Given the description of an element on the screen output the (x, y) to click on. 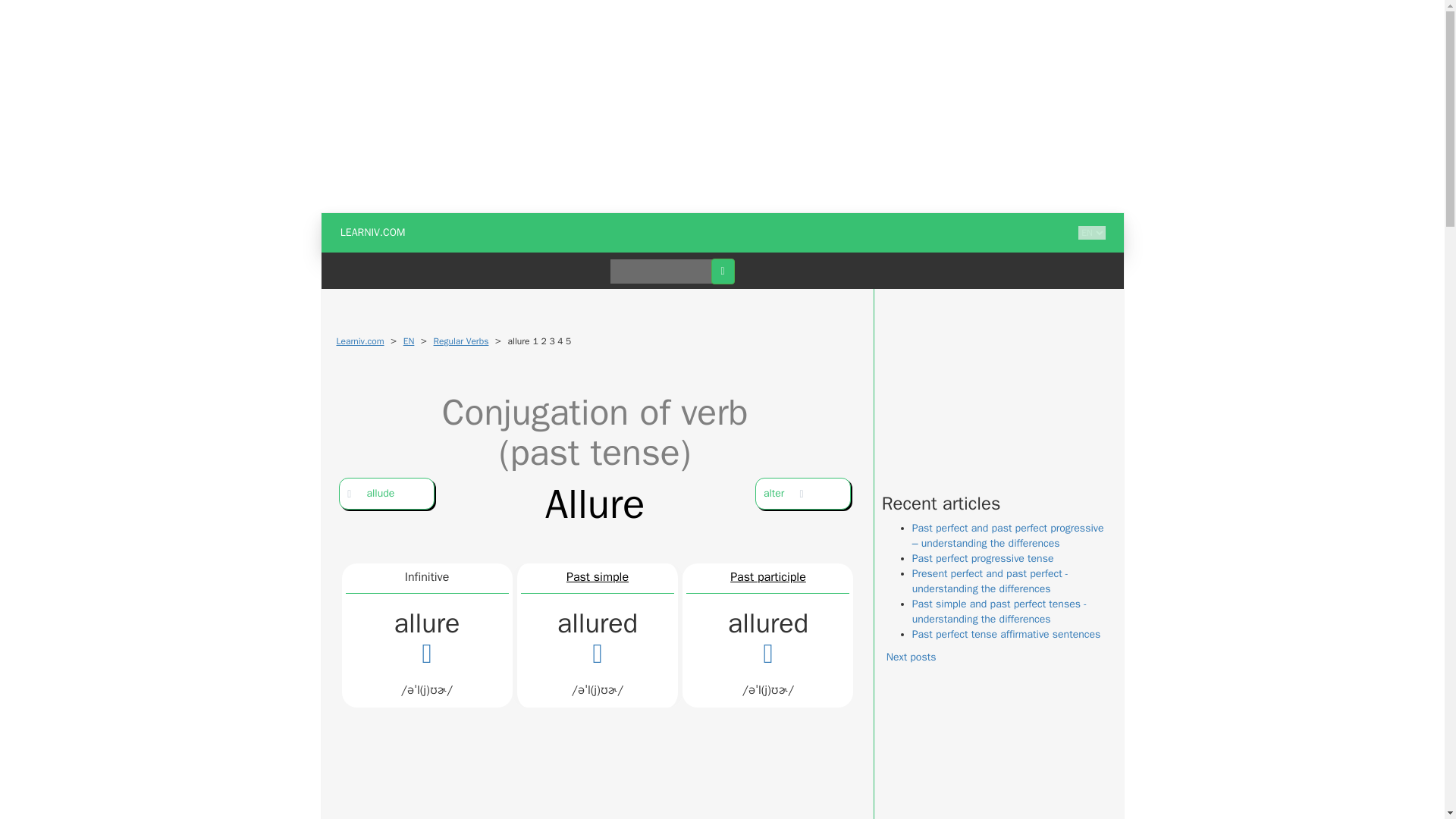
Learniv.com (360, 340)
1 (535, 341)
Past simple (597, 576)
Regular Verbs (461, 340)
5 (568, 341)
LEARNIV.COM (373, 232)
3 (551, 341)
Past participle (768, 576)
Advertisement (597, 793)
alter (802, 493)
2.55 (551, 341)
Advertisement (995, 760)
allude (386, 493)
4 (559, 341)
